Given the description of an element on the screen output the (x, y) to click on. 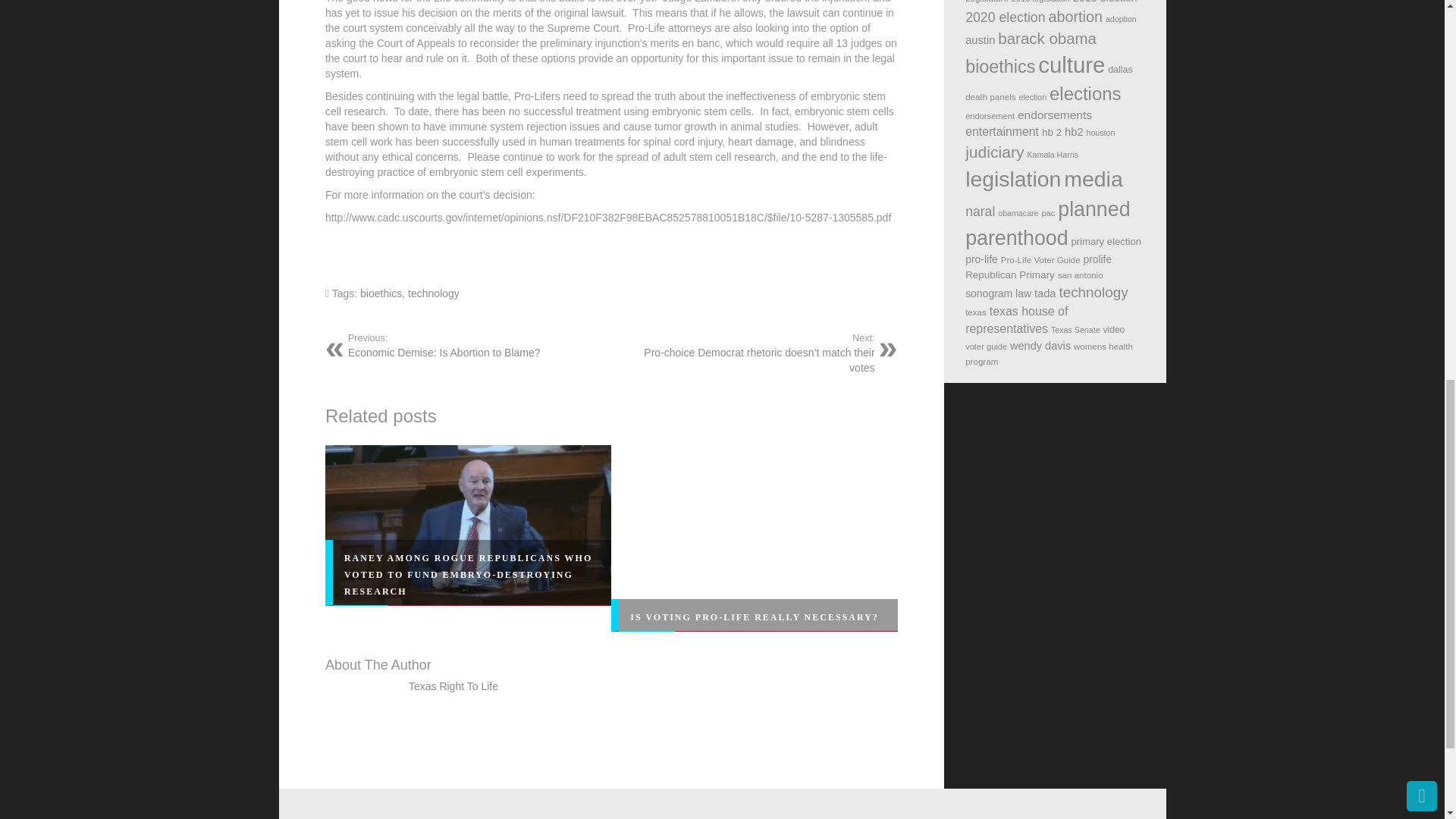
technology (433, 293)
bioethics (380, 293)
Posts by Texas Right To Life (453, 686)
Texas Right To Life (453, 686)
Permalink to Is voting Pro-Life really necessary? (754, 616)
IS VOTING PRO-LIFE REALLY NECESSARY? (473, 345)
